Given the description of an element on the screen output the (x, y) to click on. 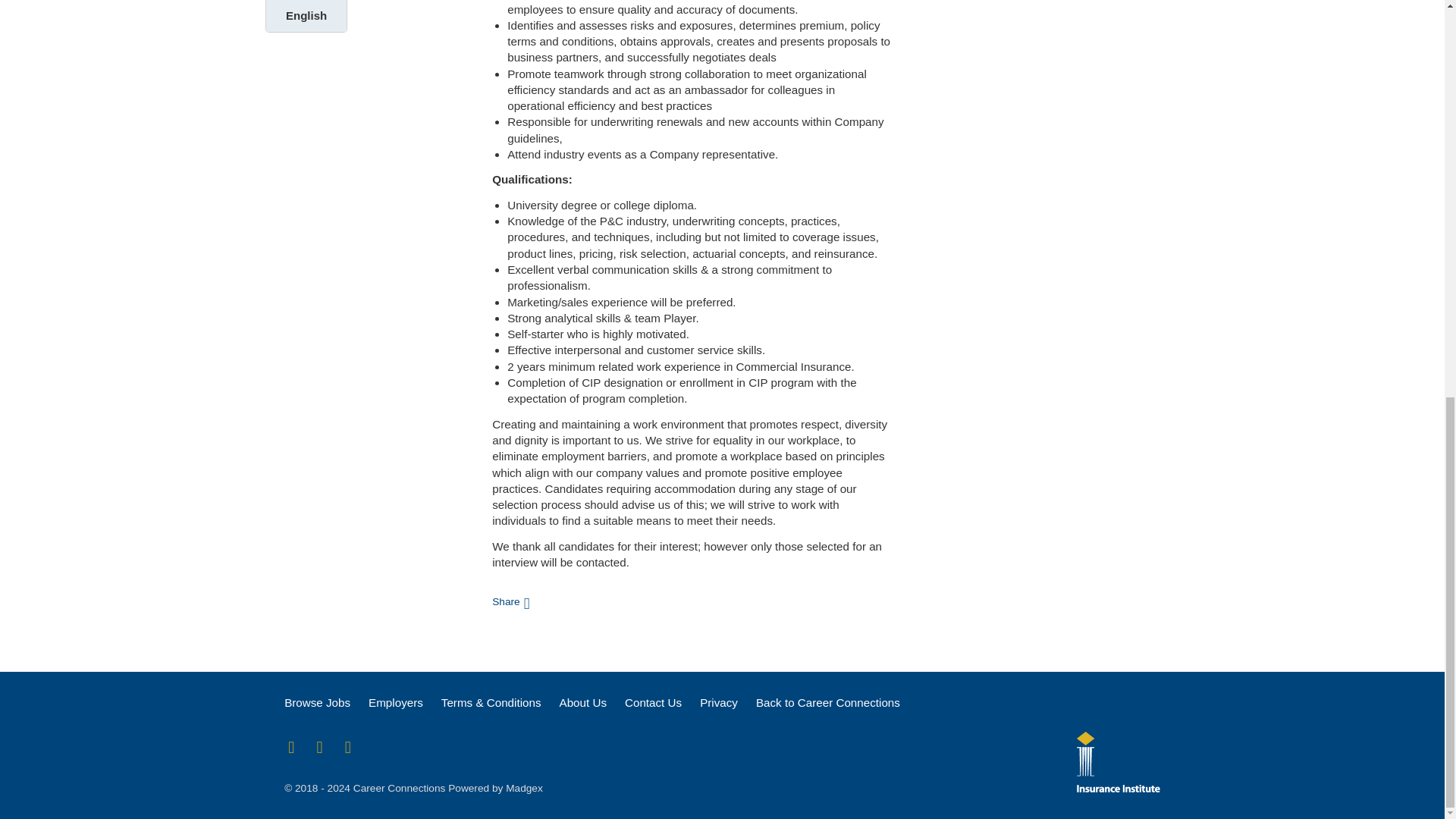
Browse Jobs (316, 702)
Contact Us (652, 702)
Employers (395, 702)
Privacy (719, 702)
Share (510, 600)
About Us (583, 702)
